Given the description of an element on the screen output the (x, y) to click on. 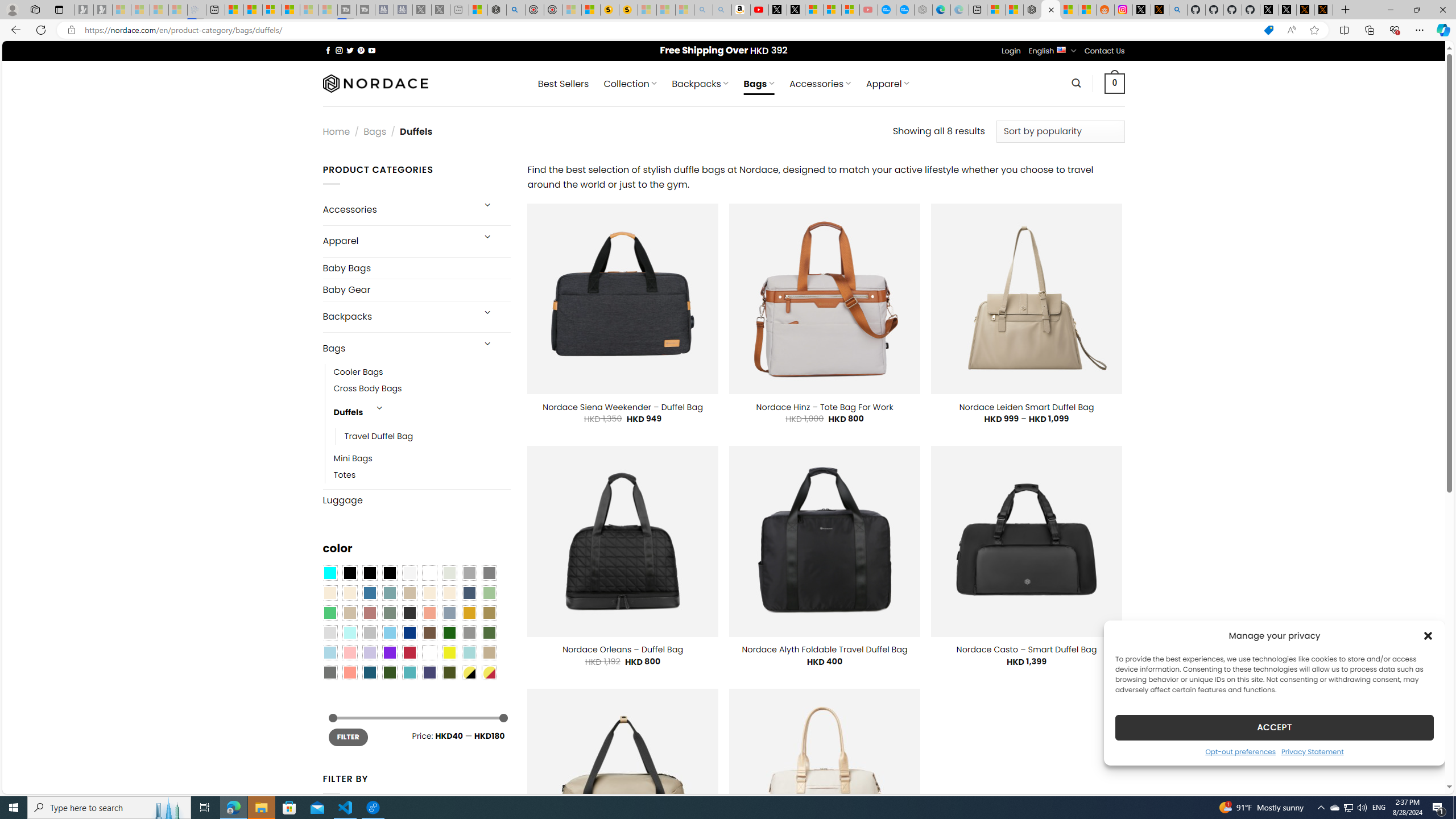
Opt-out preferences (1240, 750)
Yellow-Red (488, 672)
  0   (1115, 83)
Luggage (416, 500)
Brown (429, 632)
Sage (389, 613)
Profile / X (1268, 9)
Navy Blue (408, 632)
Follow on Pinterest (360, 49)
